Given the description of an element on the screen output the (x, y) to click on. 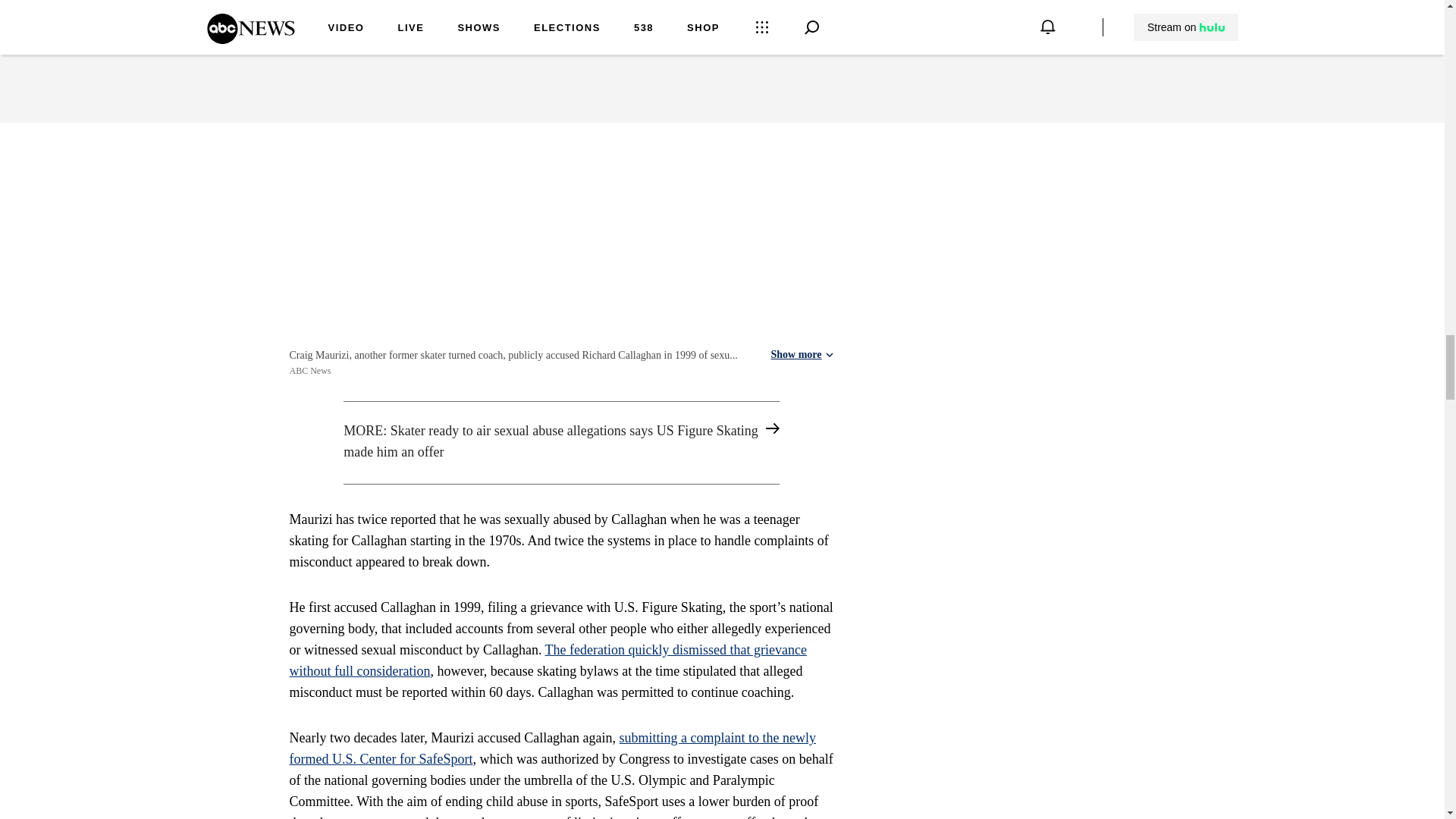
Show more (801, 354)
